Given the description of an element on the screen output the (x, y) to click on. 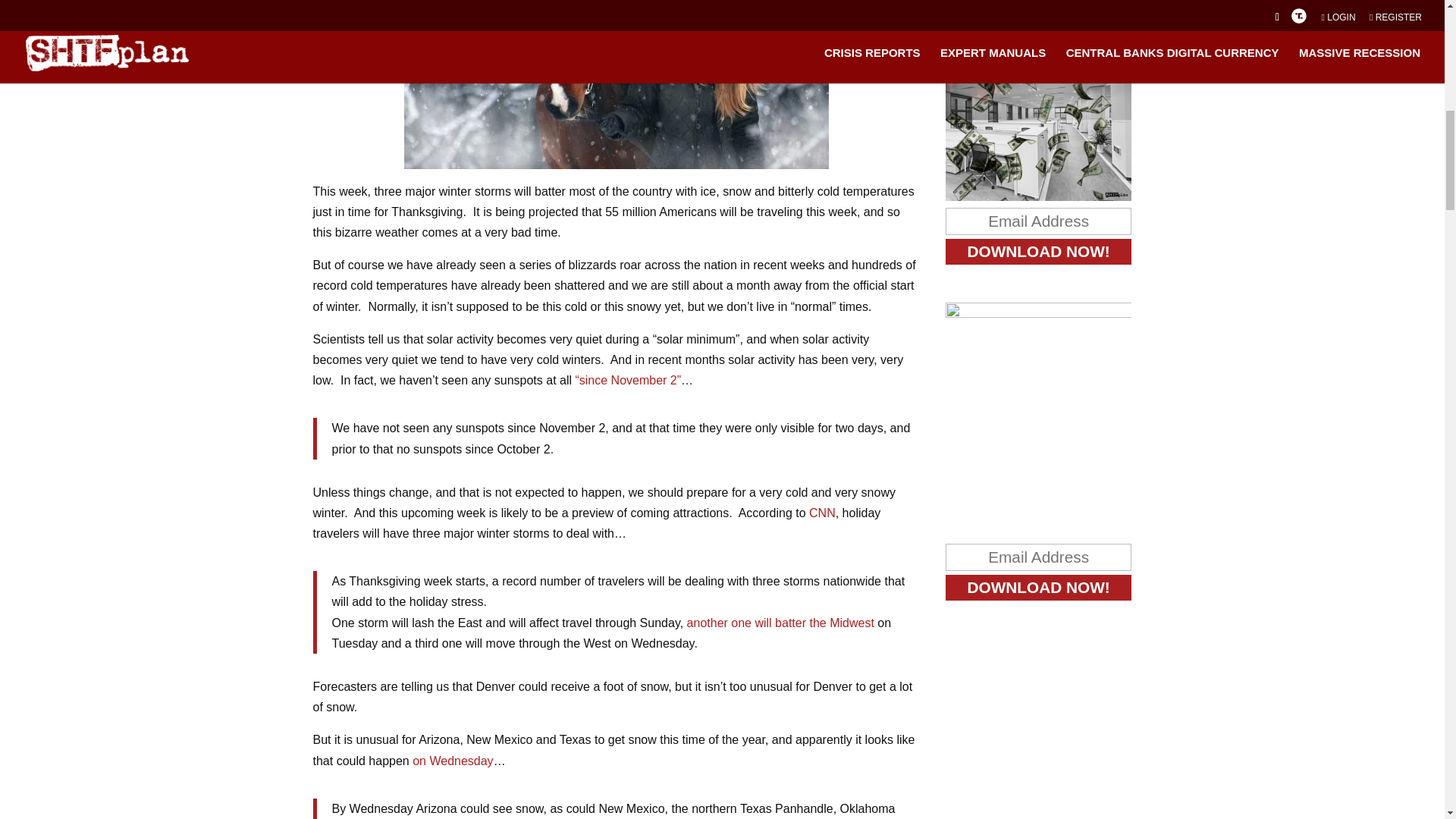
CNN (822, 512)
on Wednesday (452, 760)
Download Now! (1038, 251)
on Wednesday (452, 760)
another one will batter the Midwest  (782, 622)
CNN (822, 512)
Download Now! (1038, 587)
another one will batter the Midwest  (782, 622)
